Given the description of an element on the screen output the (x, y) to click on. 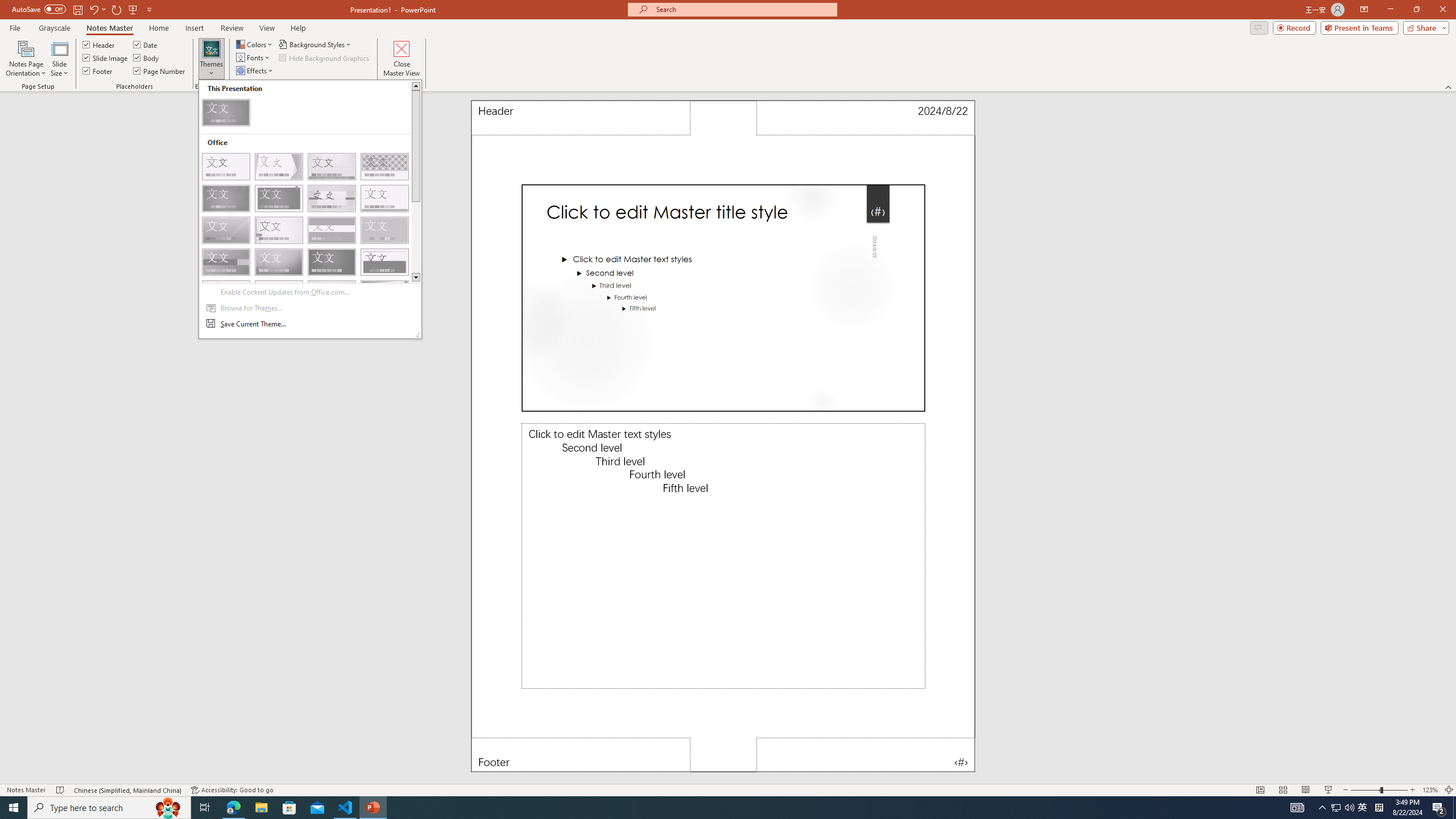
Notes Master (108, 28)
Slide Image (105, 56)
Body (147, 56)
Colors (255, 44)
Themes (211, 58)
Footer (98, 69)
Slide Size (59, 58)
Hide Background Graphics (324, 56)
Zoom 123% (1430, 790)
